Given the description of an element on the screen output the (x, y) to click on. 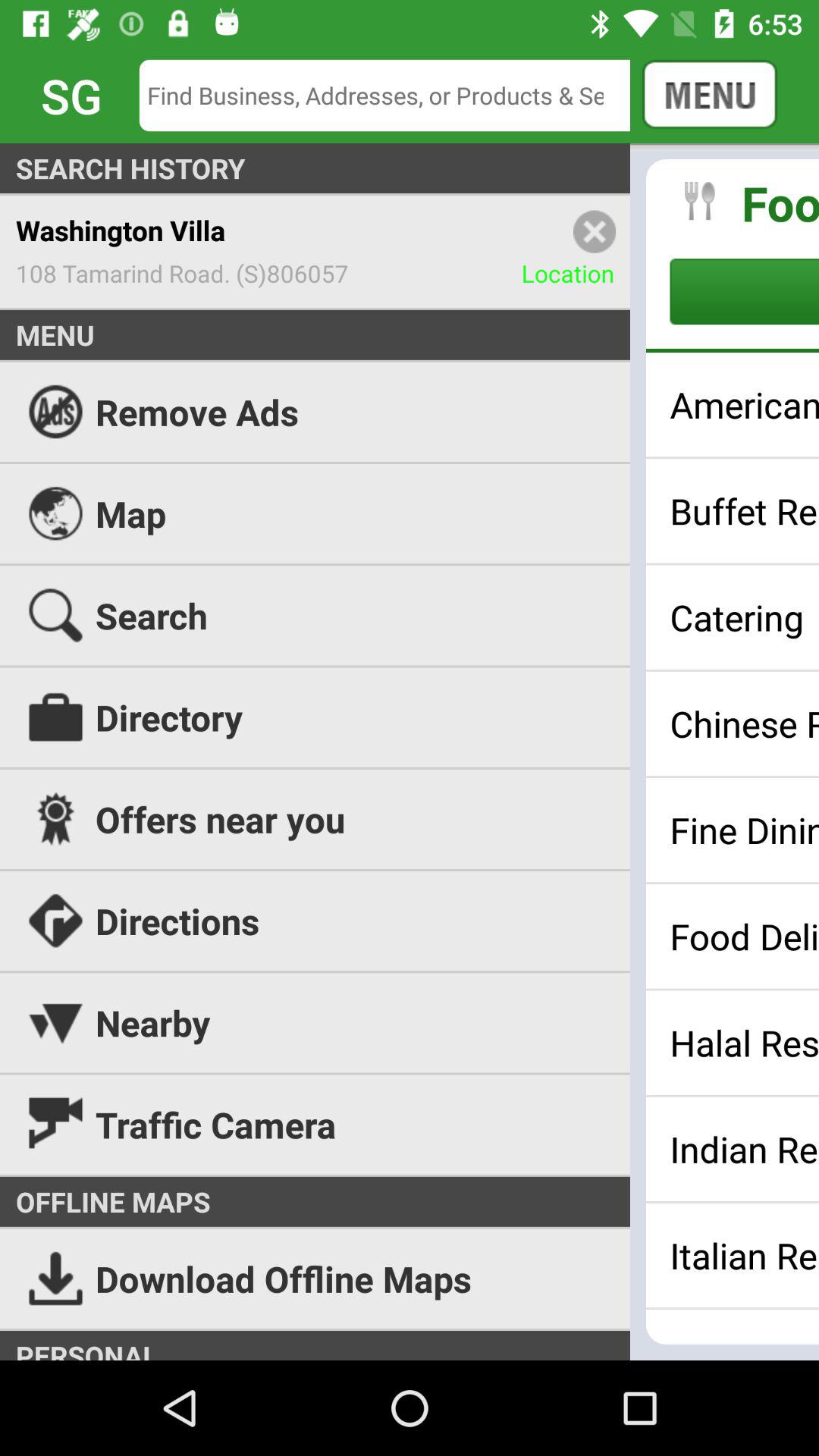
scroll until the offers near you icon (409, 819)
